Given the description of an element on the screen output the (x, y) to click on. 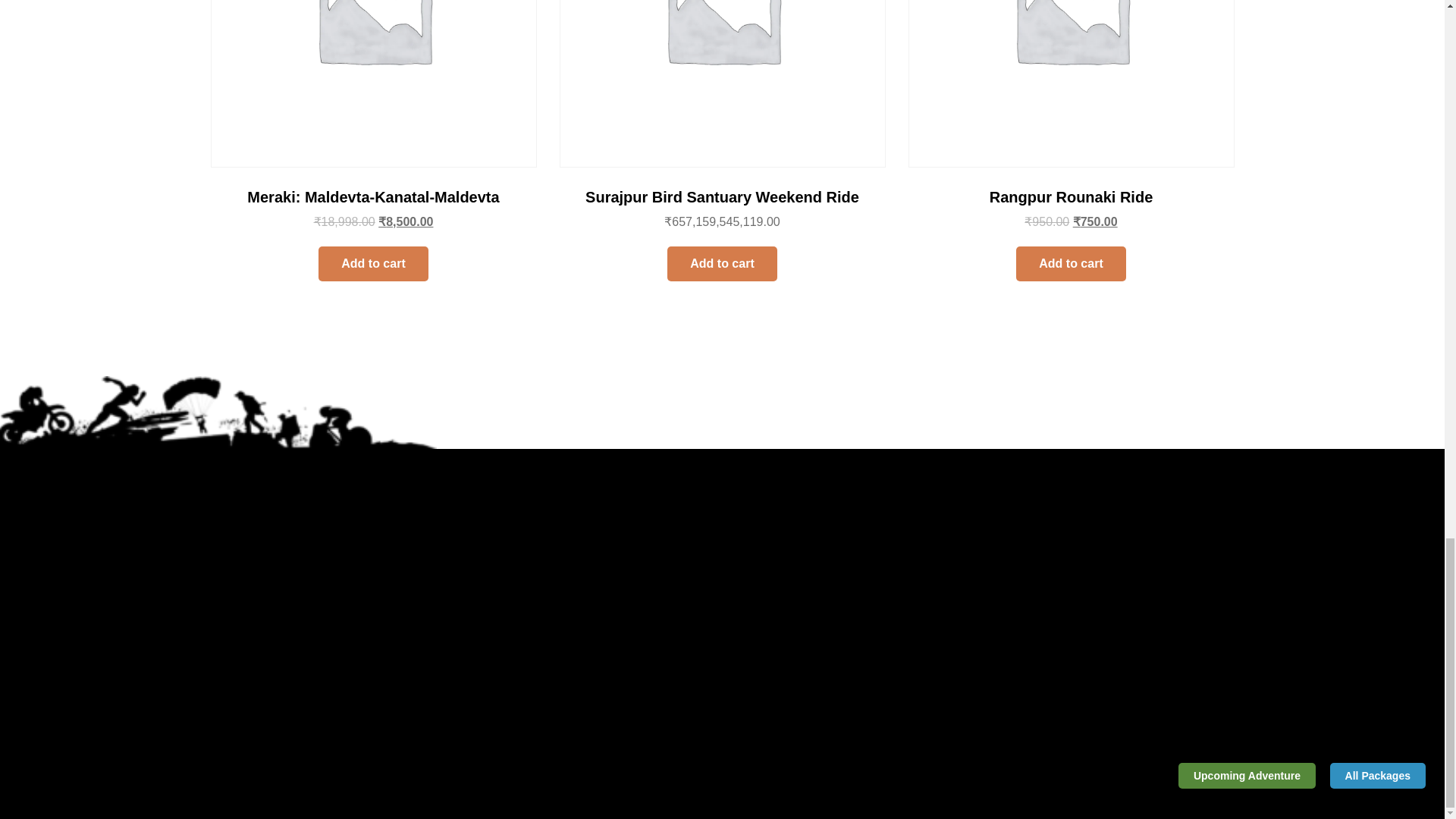
Add to cart (721, 263)
Add to cart (373, 263)
Add to cart (1070, 263)
